Given the description of an element on the screen output the (x, y) to click on. 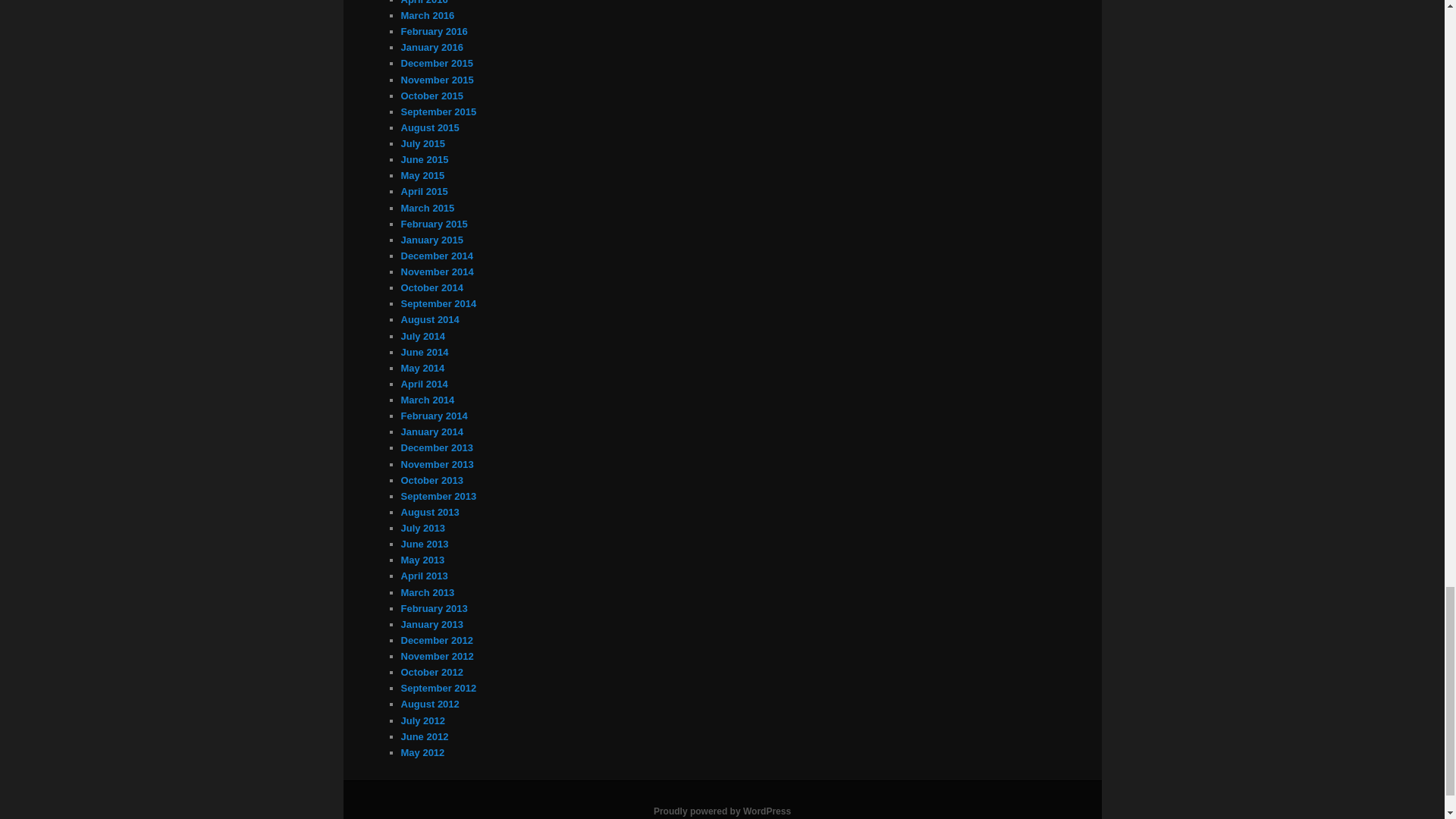
Semantic Personal Publishing Platform (721, 810)
